Given the description of an element on the screen output the (x, y) to click on. 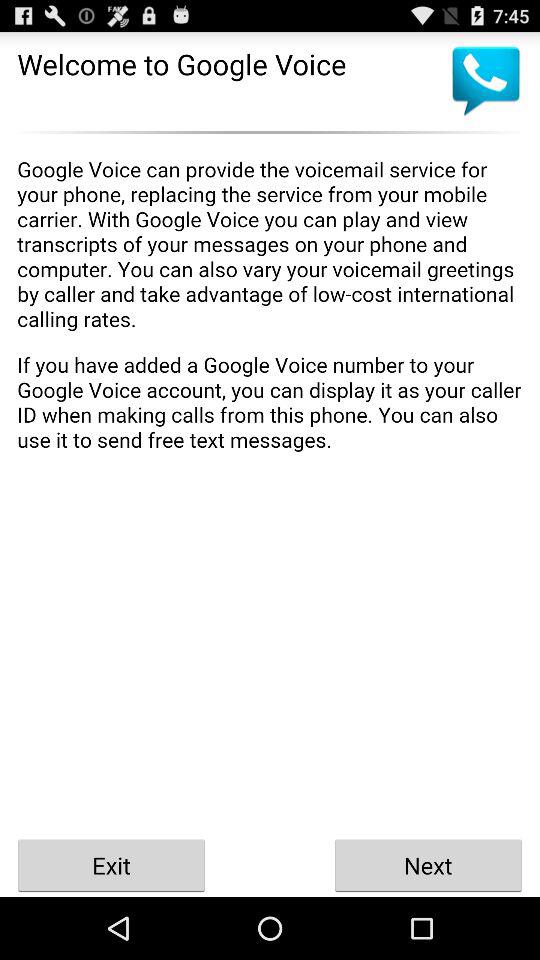
press the item above the exit button (269, 487)
